Given the description of an element on the screen output the (x, y) to click on. 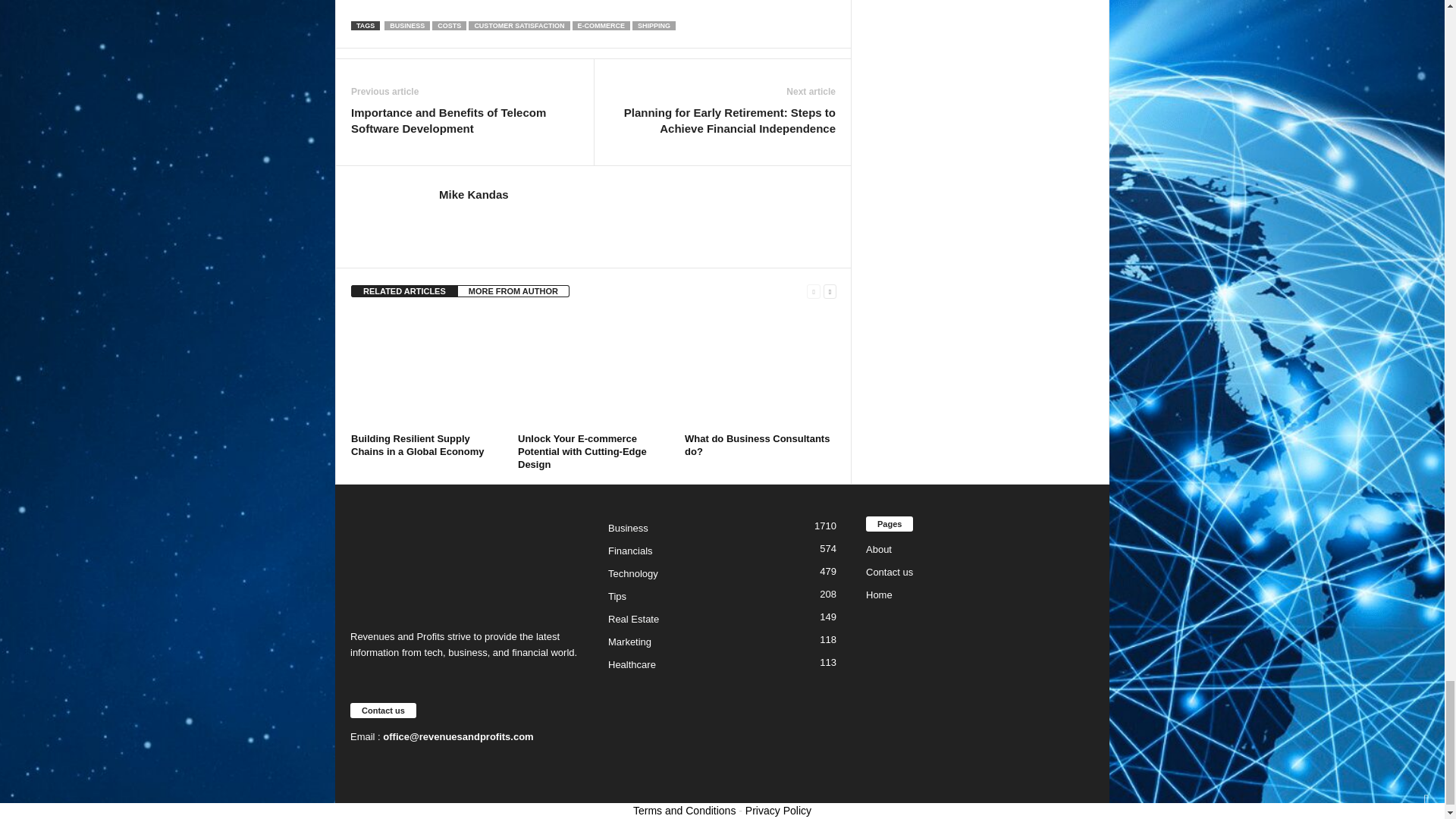
What do Business Consultants do? (759, 370)
Building Resilient Supply Chains in a Global Economy (417, 445)
Building Resilient Supply Chains in a Global Economy (426, 370)
